Given the description of an element on the screen output the (x, y) to click on. 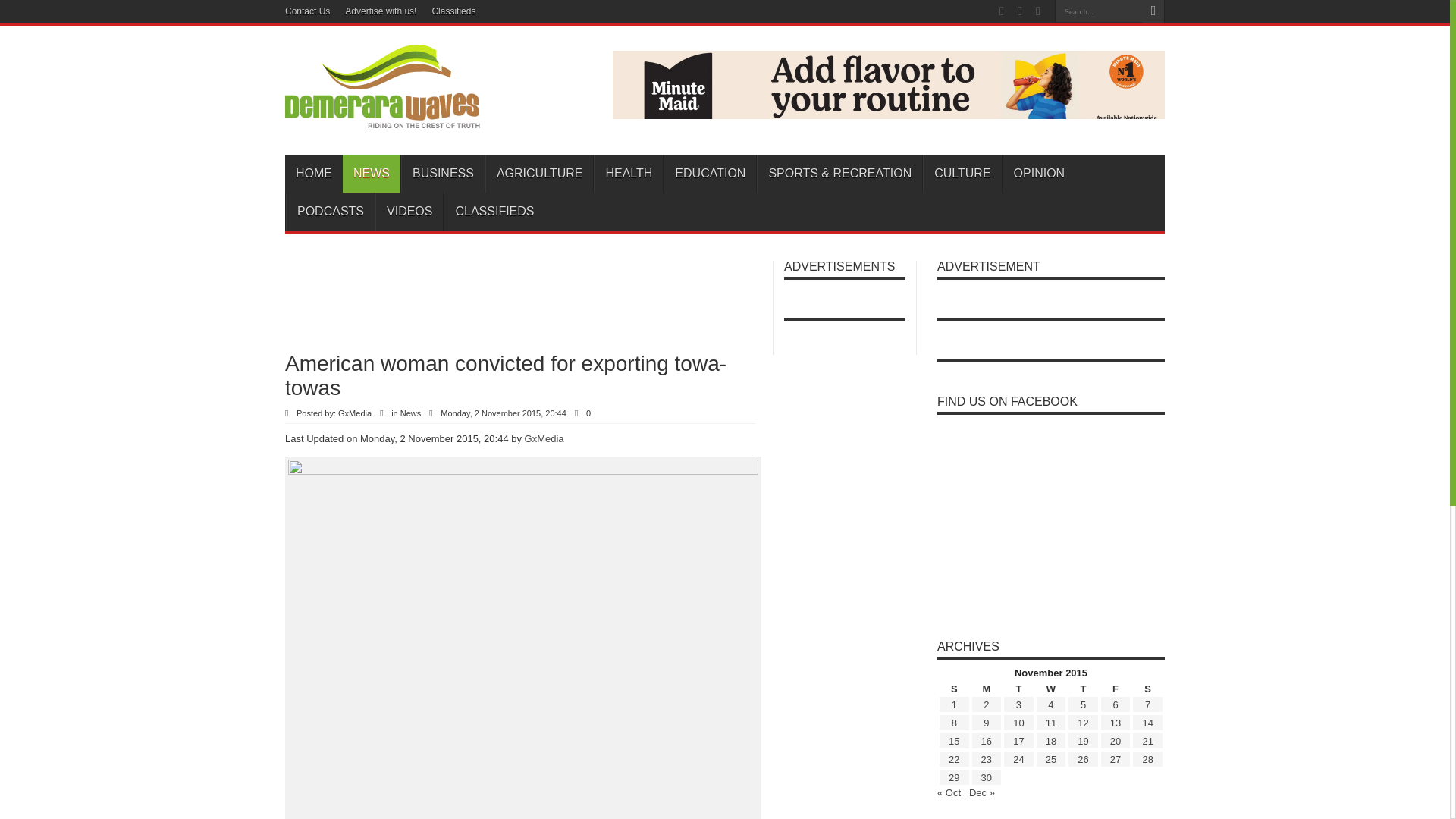
AGRICULTURE (539, 173)
CULTURE (962, 173)
OPINION (1039, 173)
Search (1152, 11)
Advertise with us! (380, 11)
Demerara Waves Online News- Guyana (382, 116)
HEALTH (628, 173)
Classifieds (453, 11)
Contact Us (307, 11)
VIDEOS (408, 211)
